Given the description of an element on the screen output the (x, y) to click on. 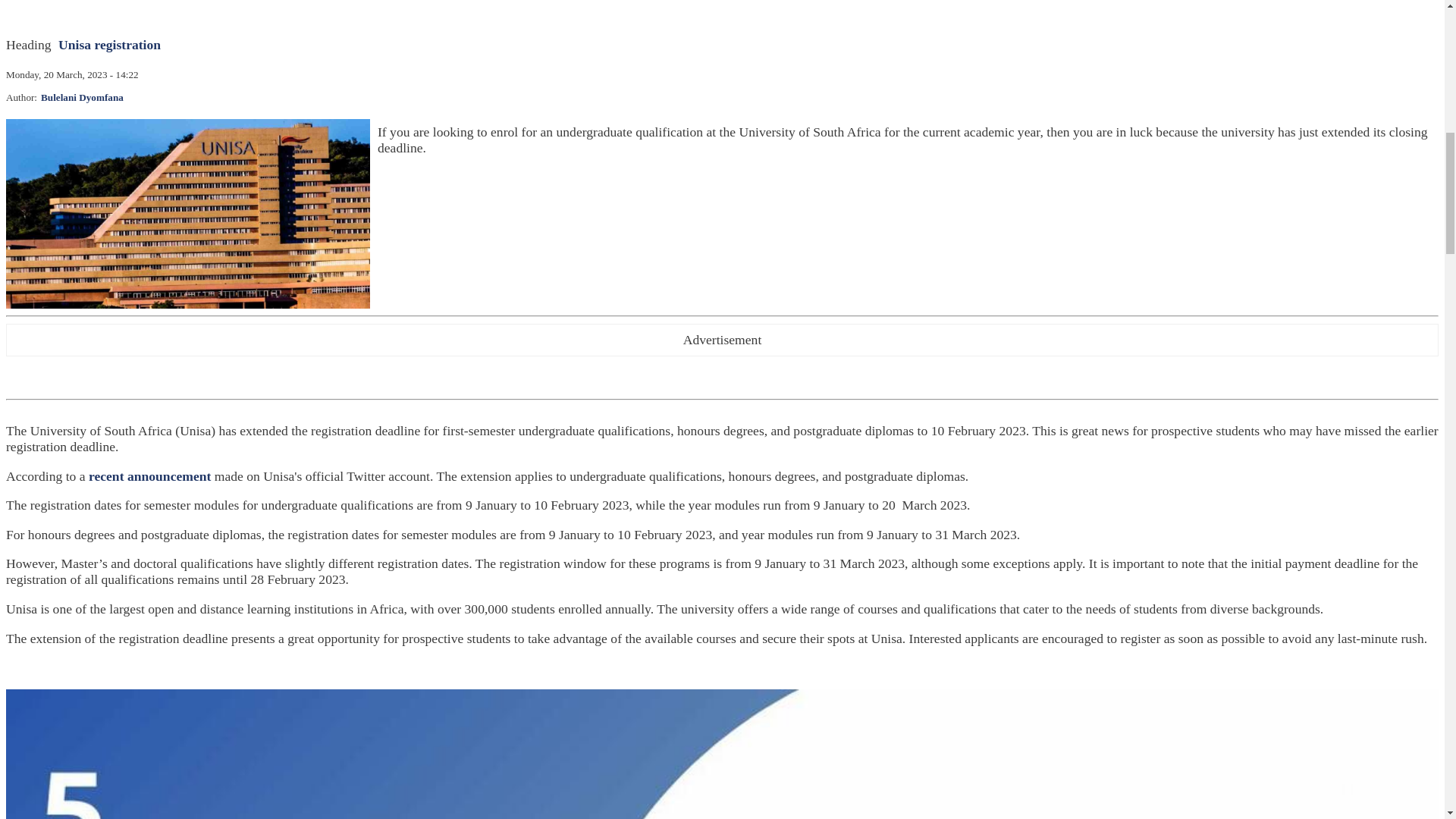
Unisa registration (109, 43)
Bulelani Dyomfana (81, 97)
recent announcement (149, 476)
